Given the description of an element on the screen output the (x, y) to click on. 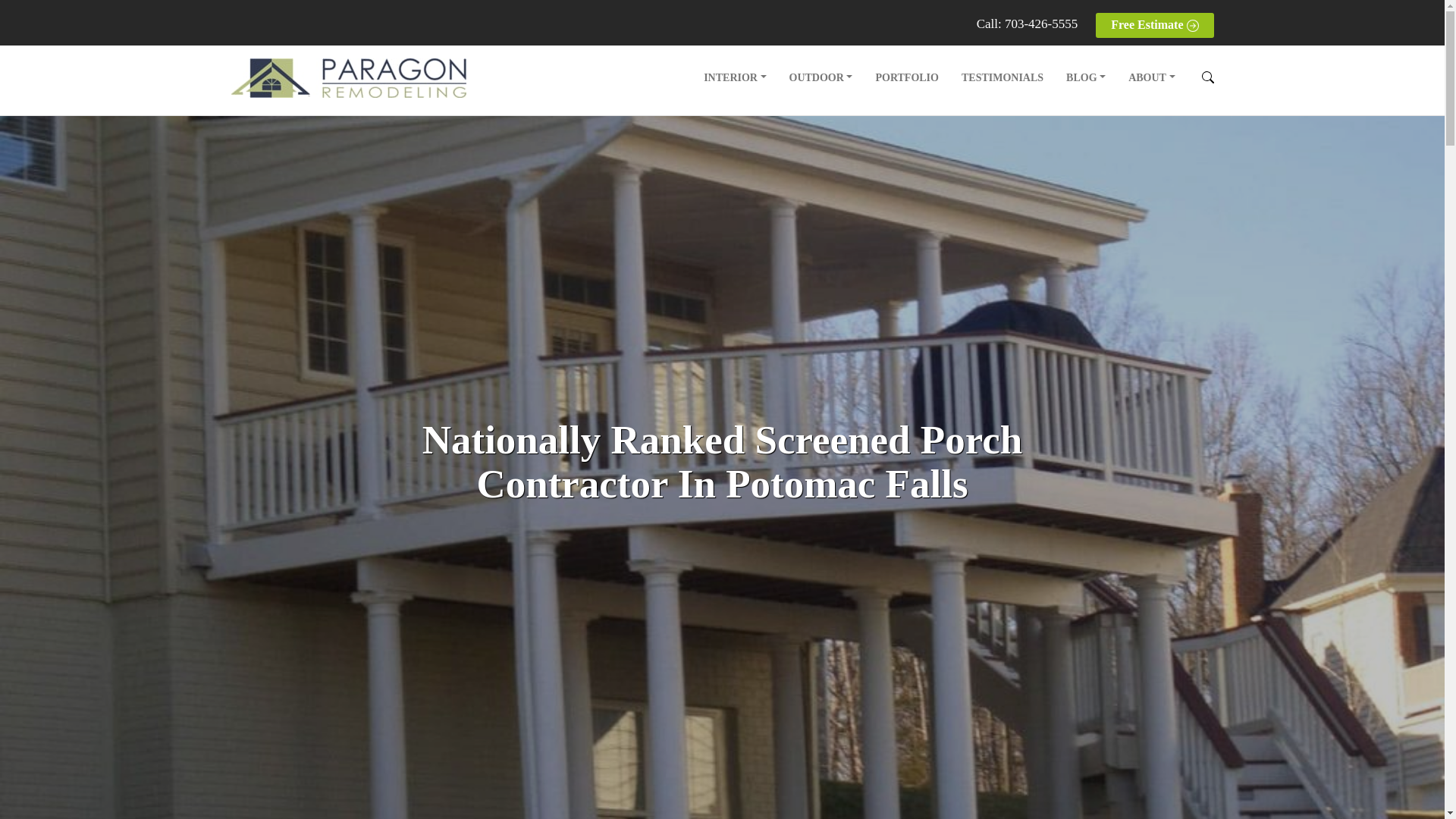
PORTFOLIO (906, 77)
Call: 703-426-5555 (1027, 23)
BLOG (1085, 77)
Free Estimate (1154, 25)
OUTDOOR (820, 77)
INTERIOR (735, 77)
ABOUT (1151, 77)
TESTIMONIALS (1002, 77)
